Given the description of an element on the screen output the (x, y) to click on. 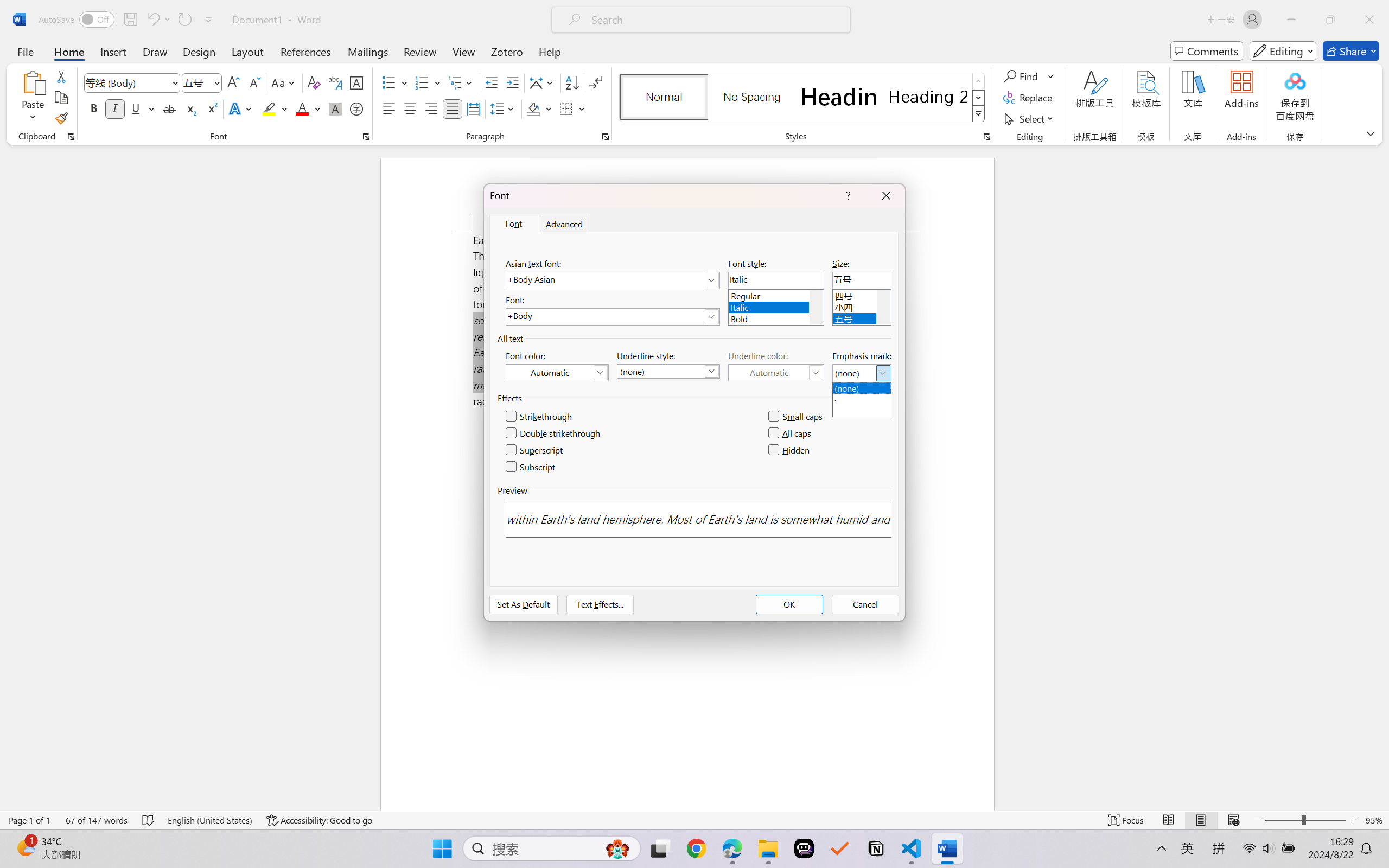
Row up (978, 81)
Text Effects and Typography (241, 108)
AutomationID: QuickStylesGallery (802, 97)
Paragraph... (605, 136)
Bold (94, 108)
Open (215, 82)
